Given the description of an element on the screen output the (x, y) to click on. 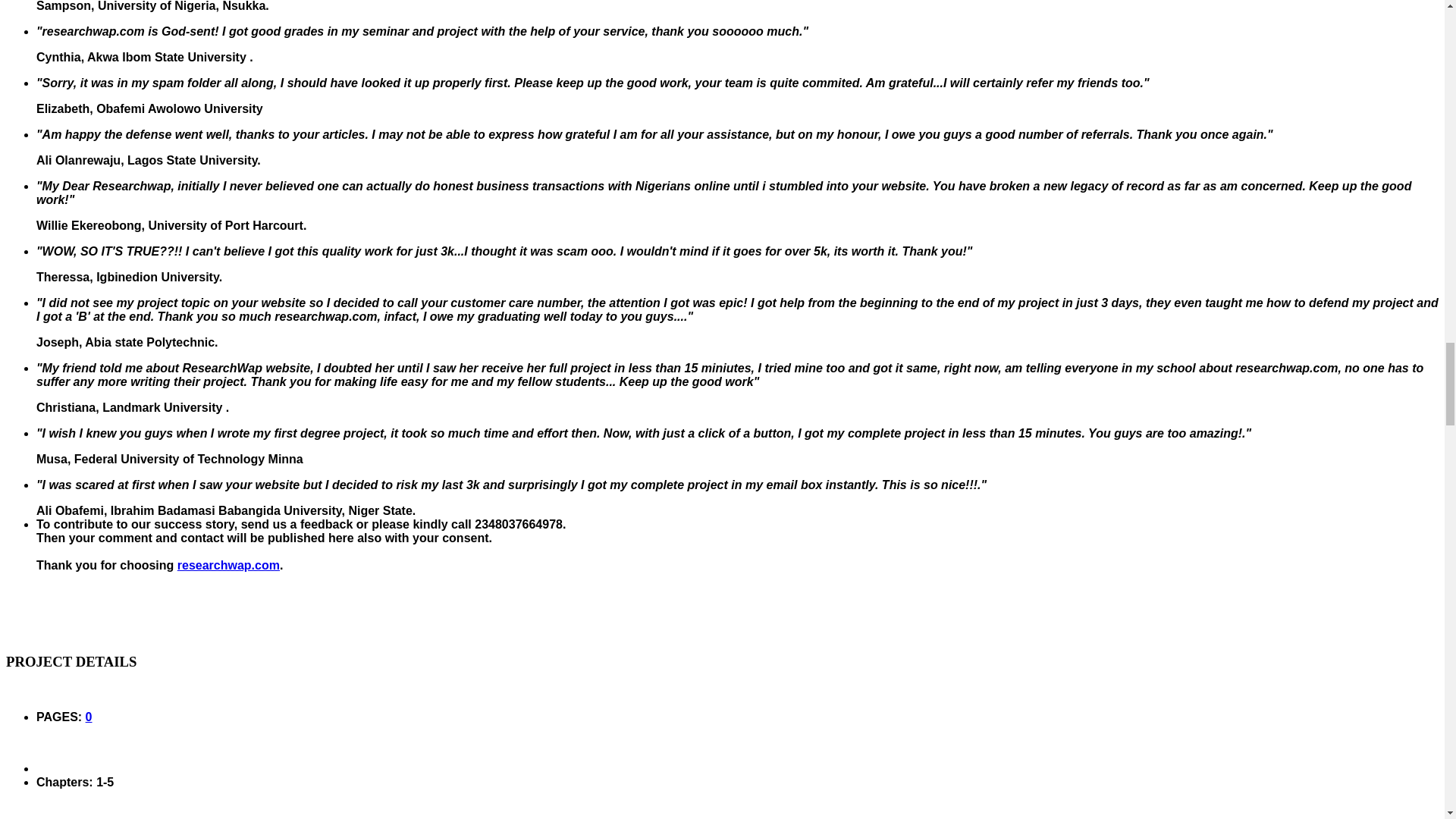
researchwap.com (228, 564)
